Given the description of an element on the screen output the (x, y) to click on. 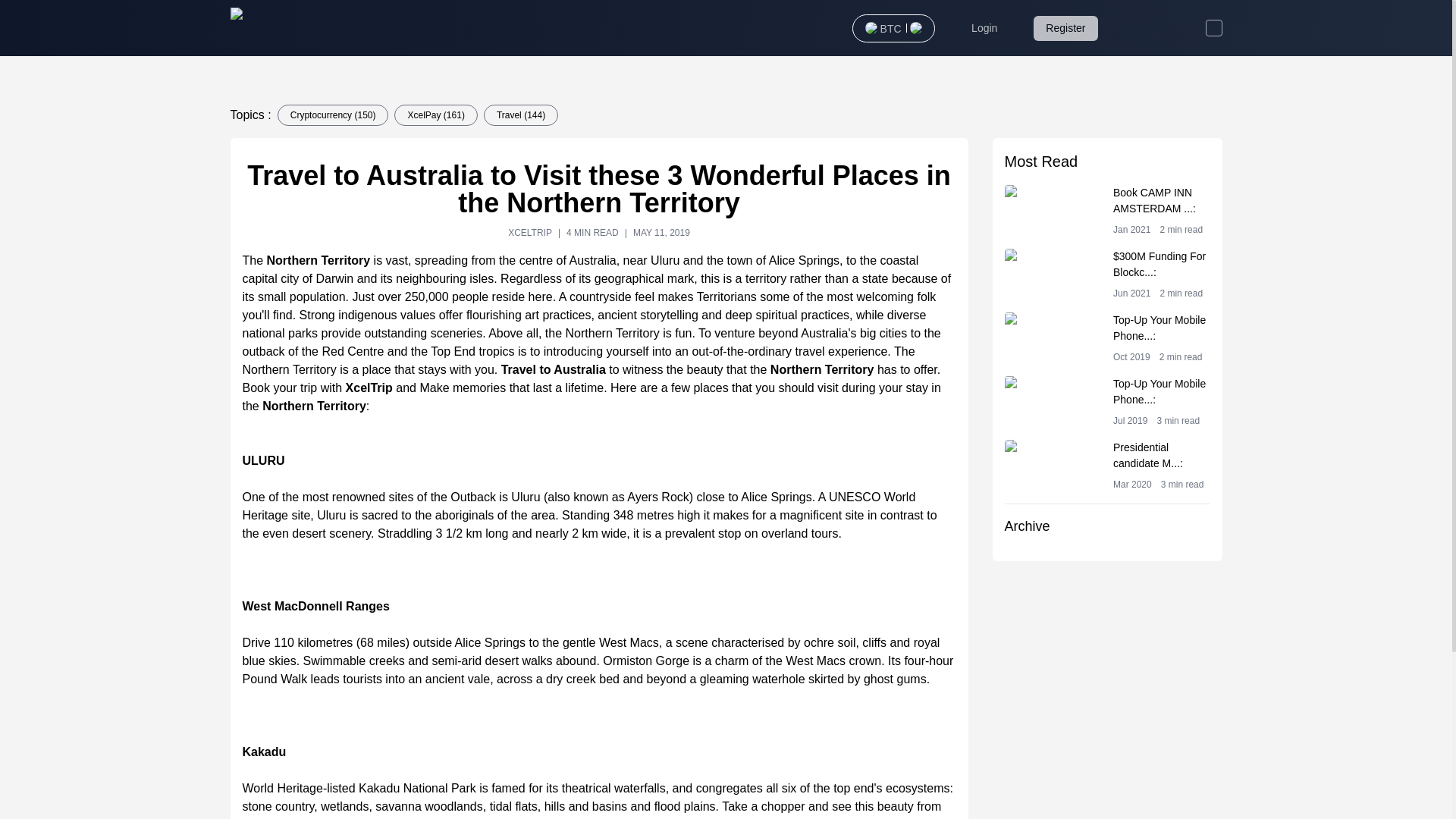
Register (1065, 27)
BTC (890, 27)
Travel to Australia (552, 369)
button-title (1106, 401)
Login (1106, 465)
